Given the description of an element on the screen output the (x, y) to click on. 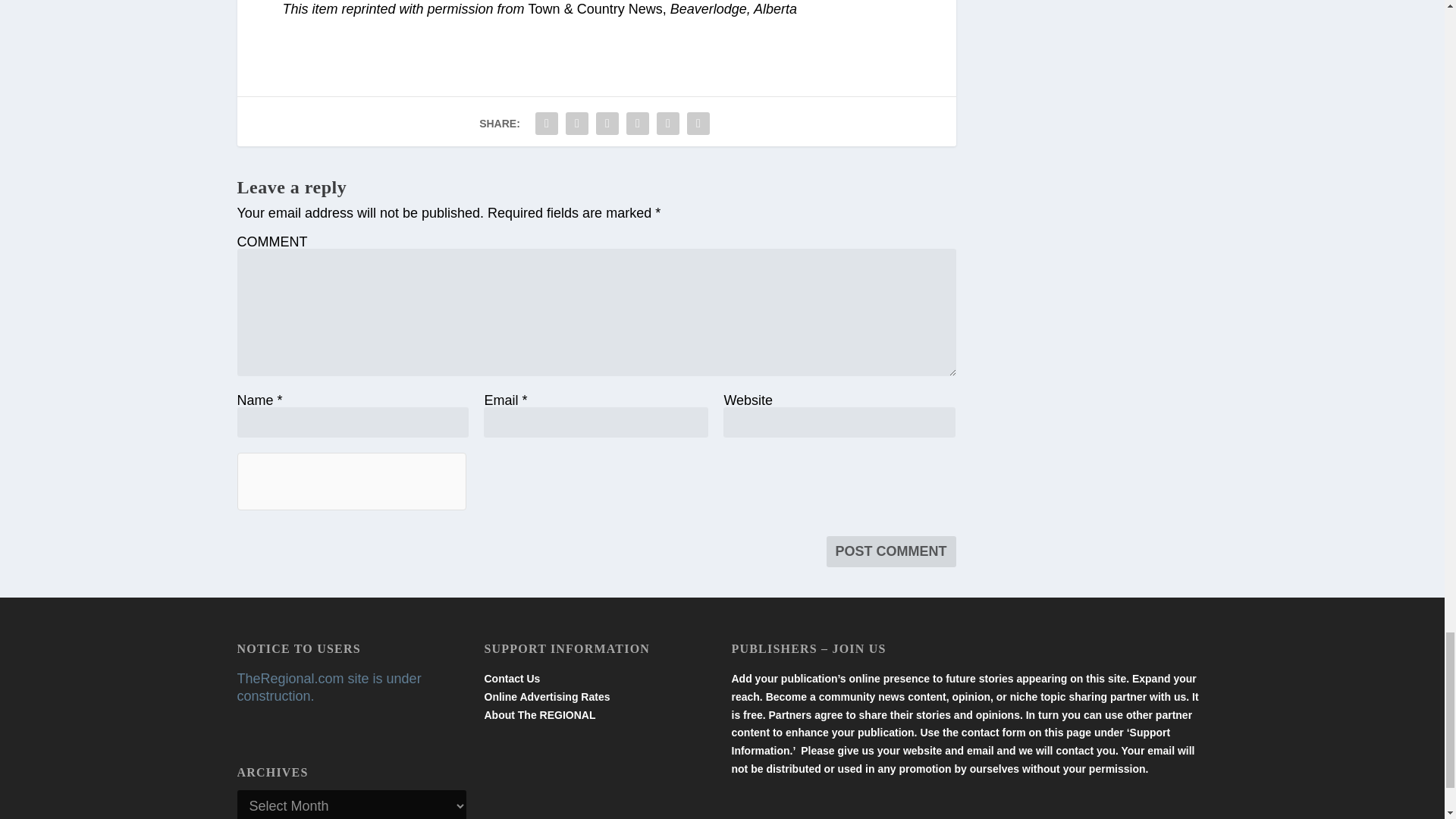
Post Comment (891, 551)
